Given the description of an element on the screen output the (x, y) to click on. 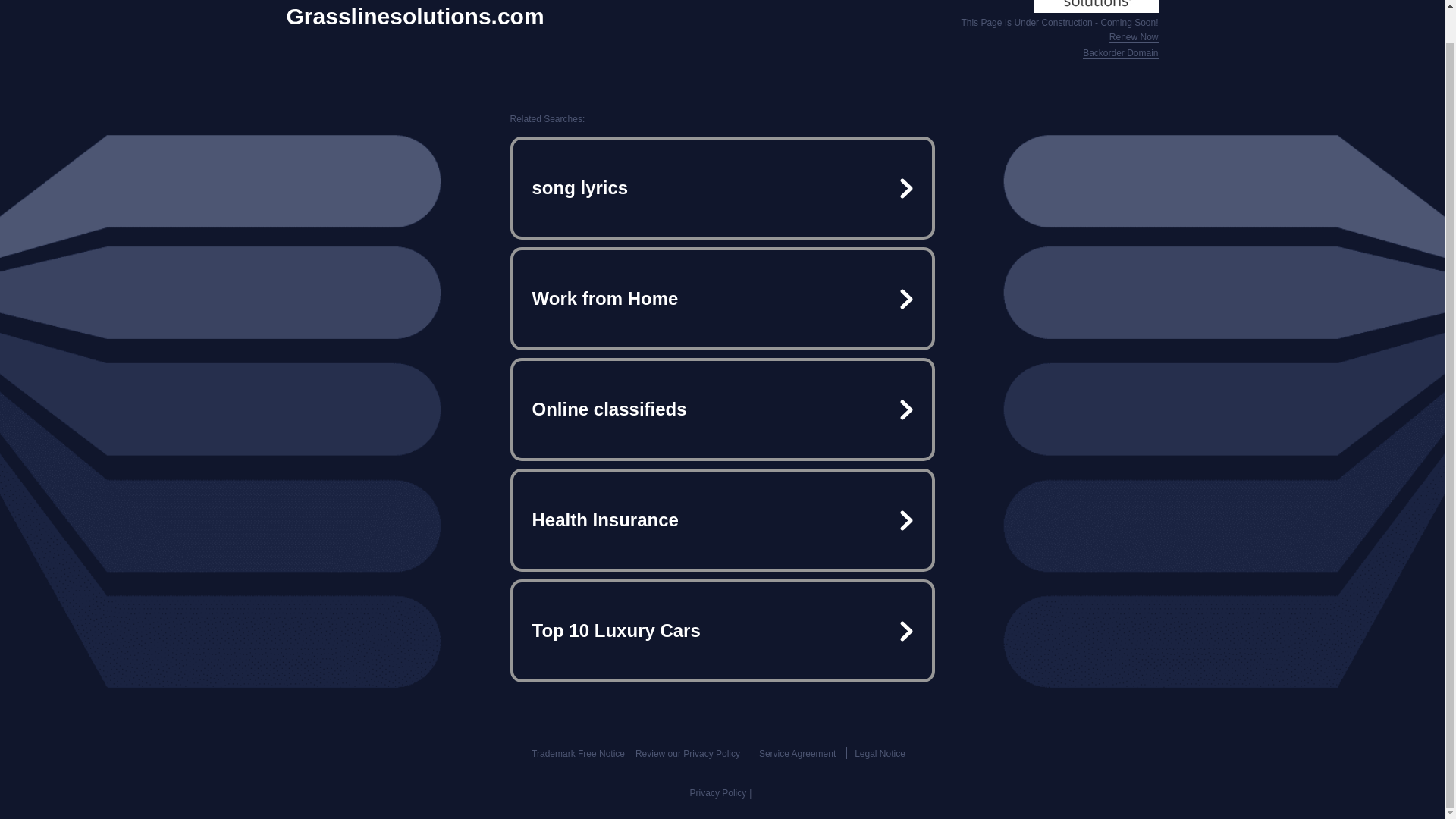
Review our Privacy Policy (686, 753)
Online classifieds (721, 409)
Renew Now (1133, 37)
Health Insurance (721, 519)
Work from Home (721, 298)
Trademark Free Notice (577, 753)
Top 10 Luxury Cars (721, 630)
Backorder Domain (1120, 52)
Service Agreement (796, 753)
Legal Notice (879, 753)
